Given the description of an element on the screen output the (x, y) to click on. 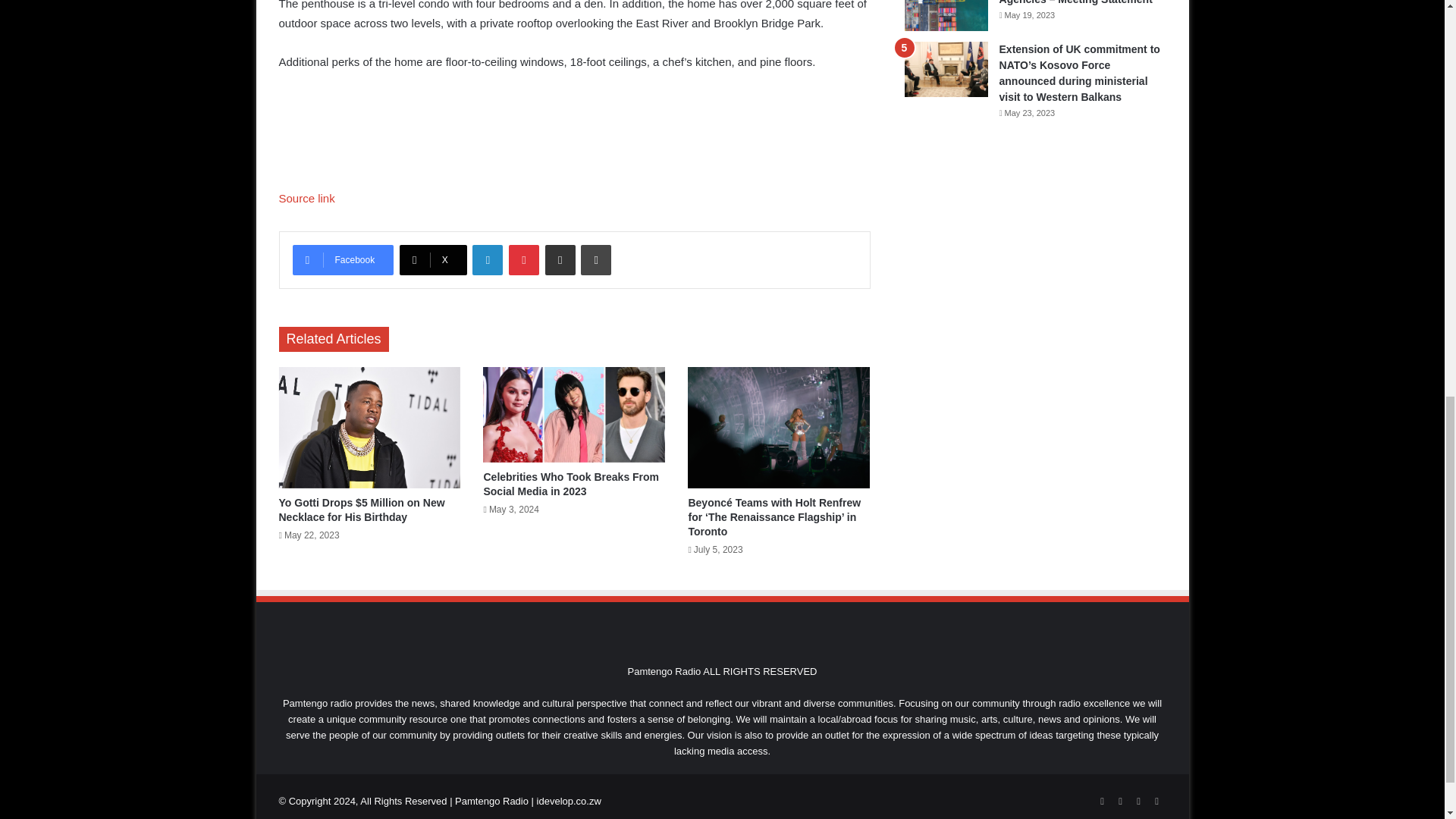
Share via Email (559, 259)
X (432, 259)
Facebook (343, 259)
Pinterest (523, 259)
Source link (306, 197)
Print (595, 259)
X (432, 259)
Celebrities Who Took Breaks From Social Media in 2023 (571, 483)
Pinterest (523, 259)
Print (595, 259)
LinkedIn (486, 259)
LinkedIn (486, 259)
Facebook (343, 259)
Share via Email (559, 259)
